Given the description of an element on the screen output the (x, y) to click on. 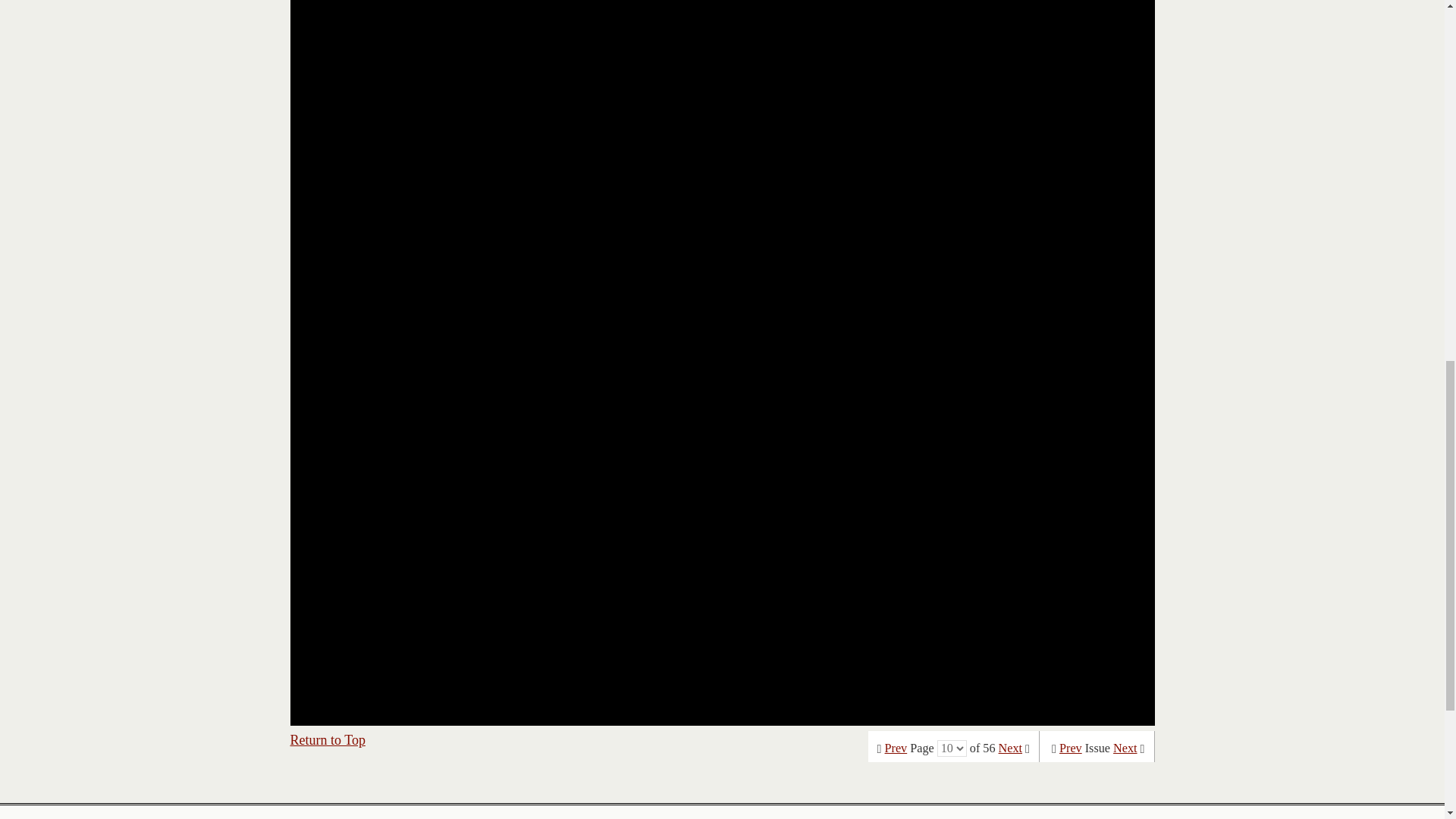
Return to Top (327, 739)
Prev (1070, 748)
Prev (896, 748)
Next (1010, 748)
Next (1125, 748)
